Given the description of an element on the screen output the (x, y) to click on. 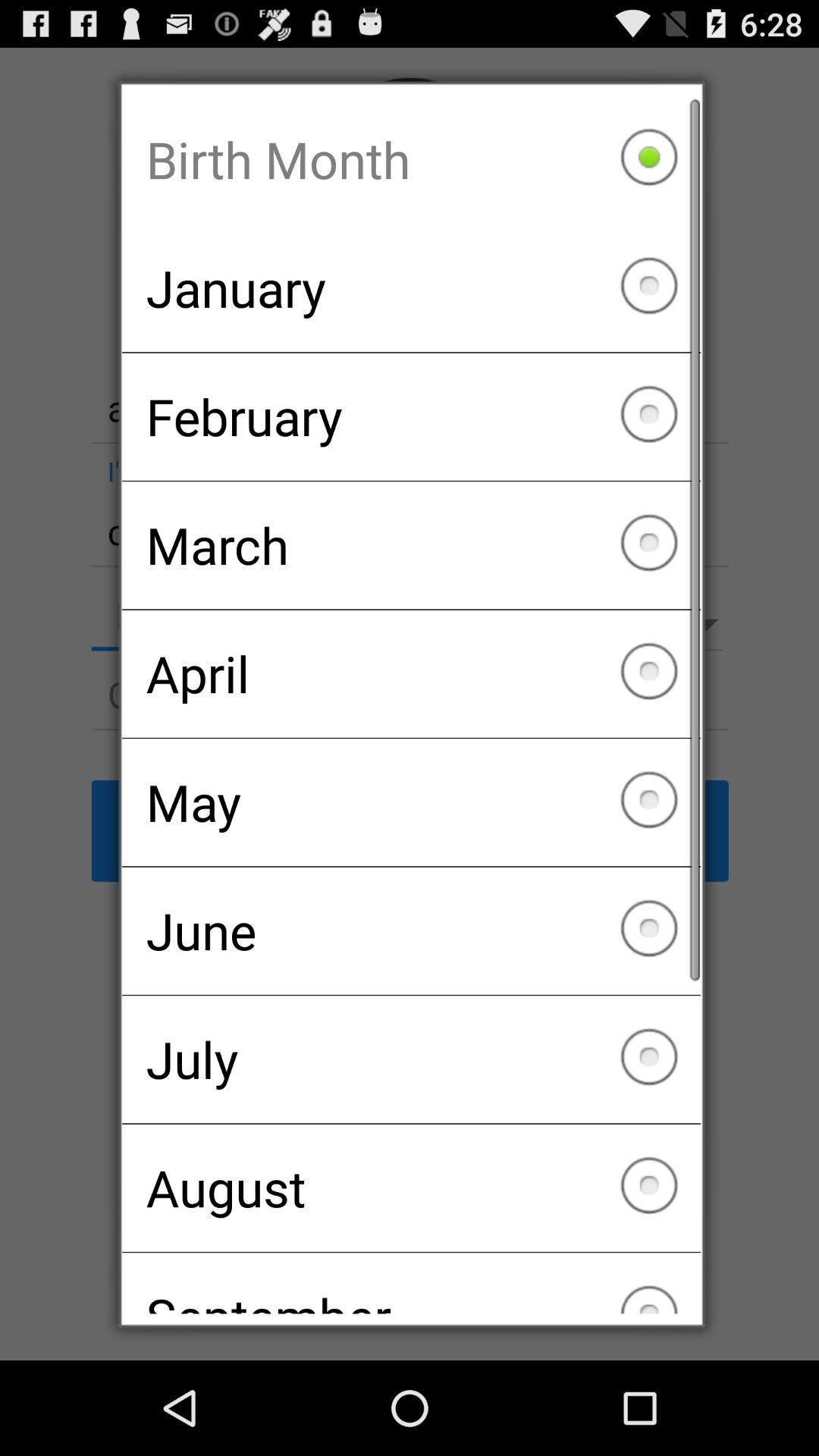
press the icon above august checkbox (411, 1059)
